Given the description of an element on the screen output the (x, y) to click on. 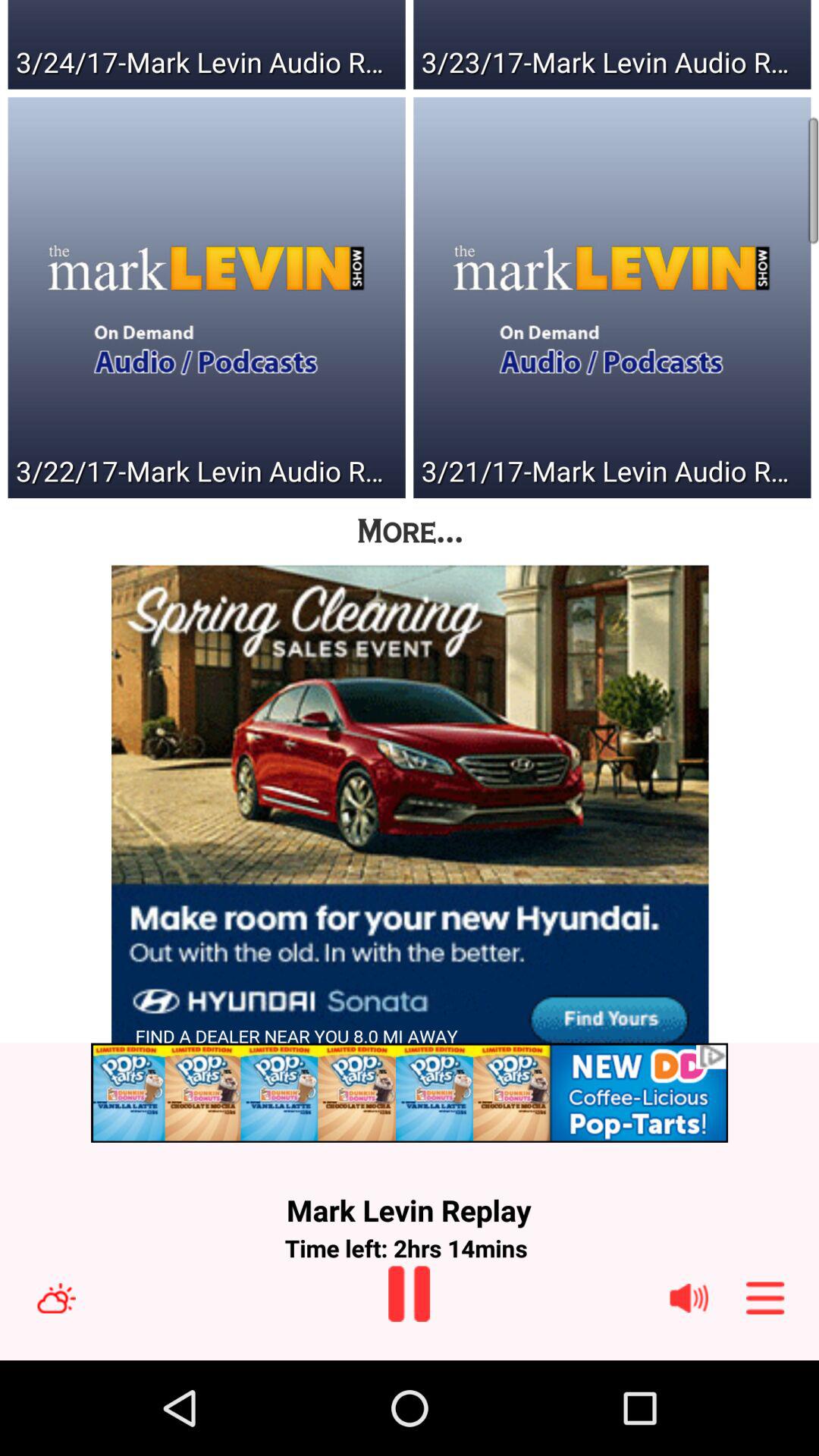
pause button (408, 1293)
